Given the description of an element on the screen output the (x, y) to click on. 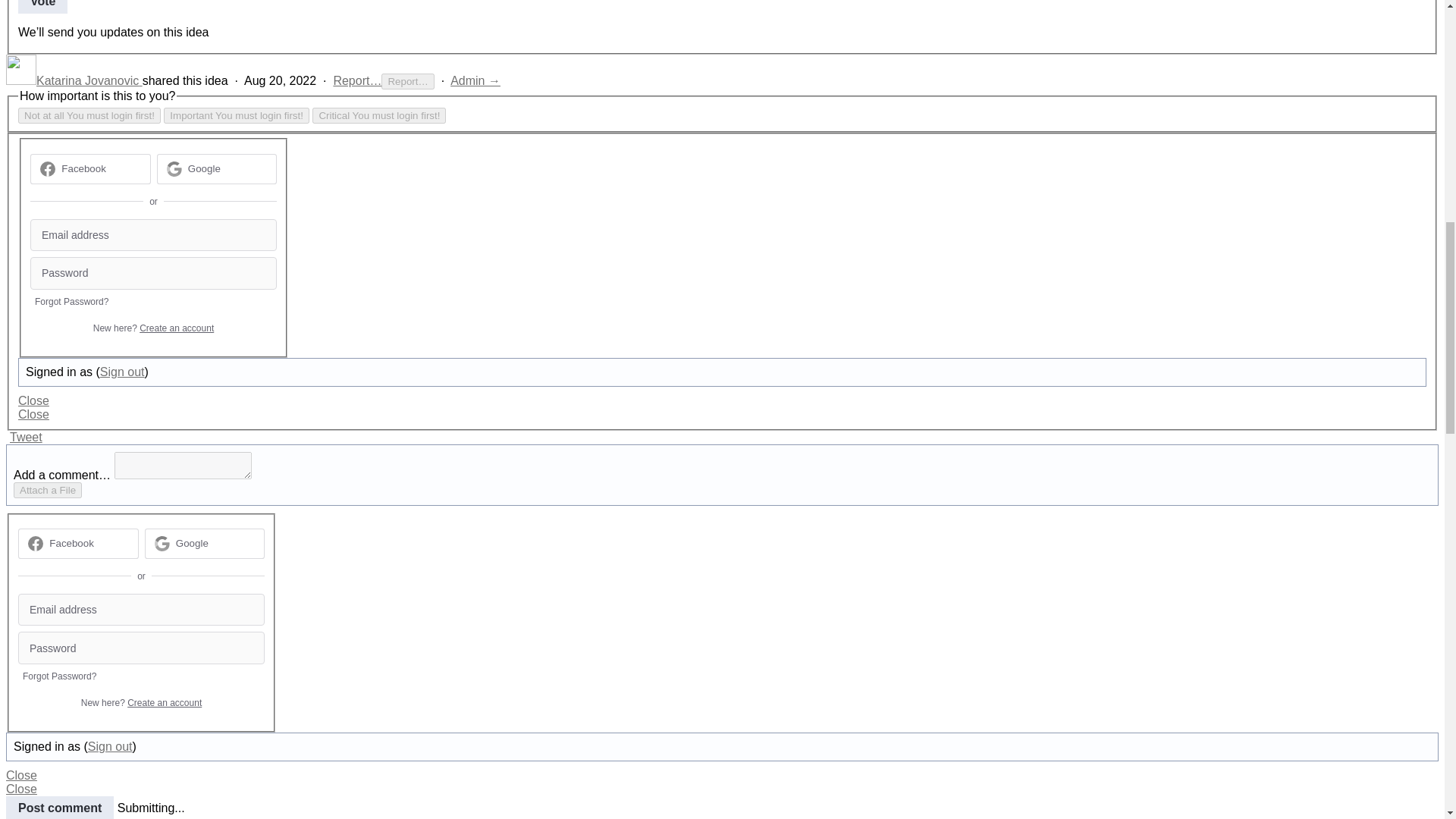
Sign out (122, 371)
Close (33, 413)
Important You must login first! (235, 115)
Attach a File (47, 489)
Forgot Password? (71, 301)
New here? Create an account (153, 328)
Facebook (83, 168)
Critical You must login first! (379, 115)
Tweet (26, 436)
Google (204, 168)
Google (215, 168)
Vote (41, 6)
Close (33, 400)
Facebook sign in (77, 543)
Facebook (77, 543)
